Given the description of an element on the screen output the (x, y) to click on. 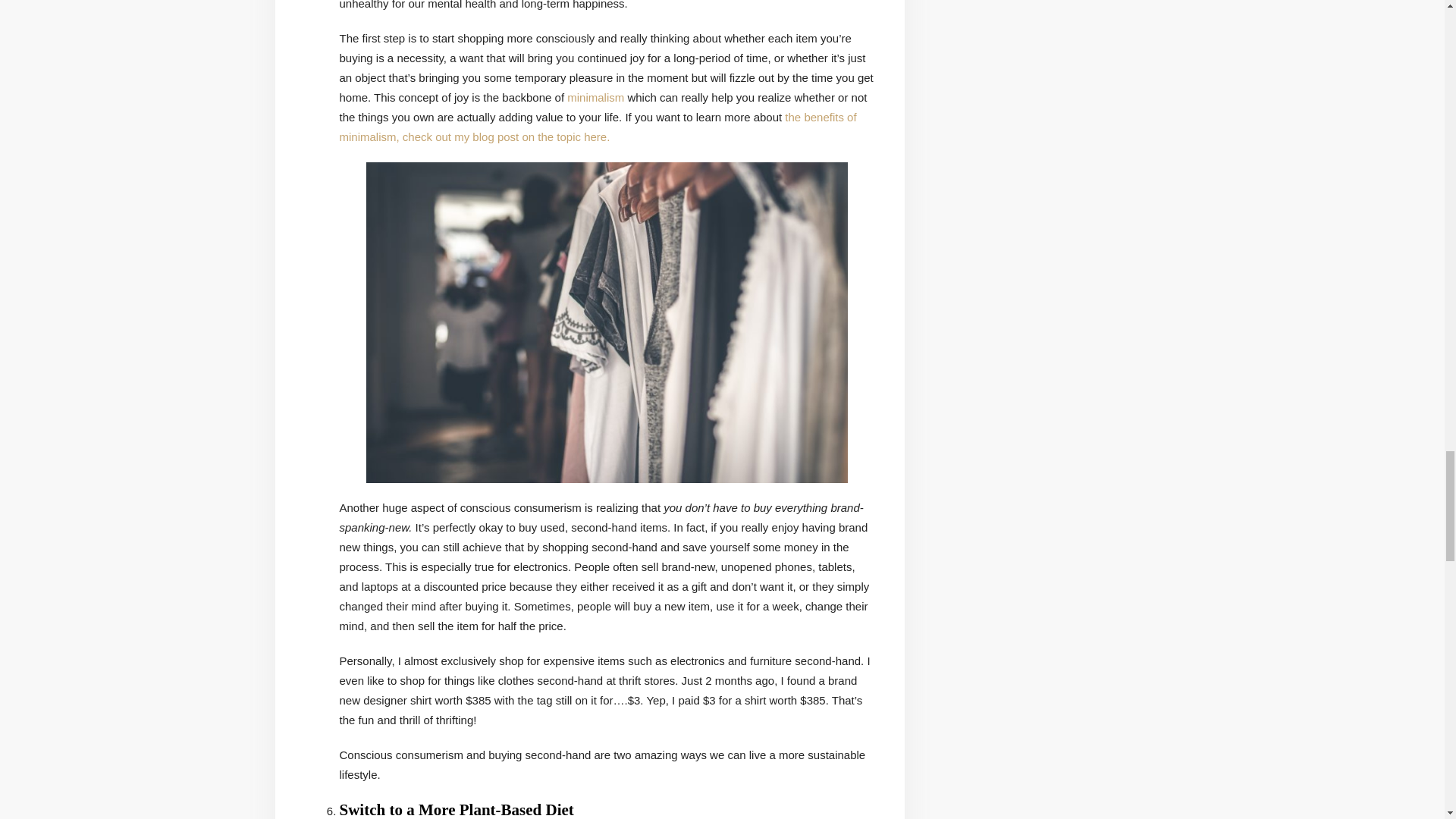
minimalism (595, 97)
